Given the description of an element on the screen output the (x, y) to click on. 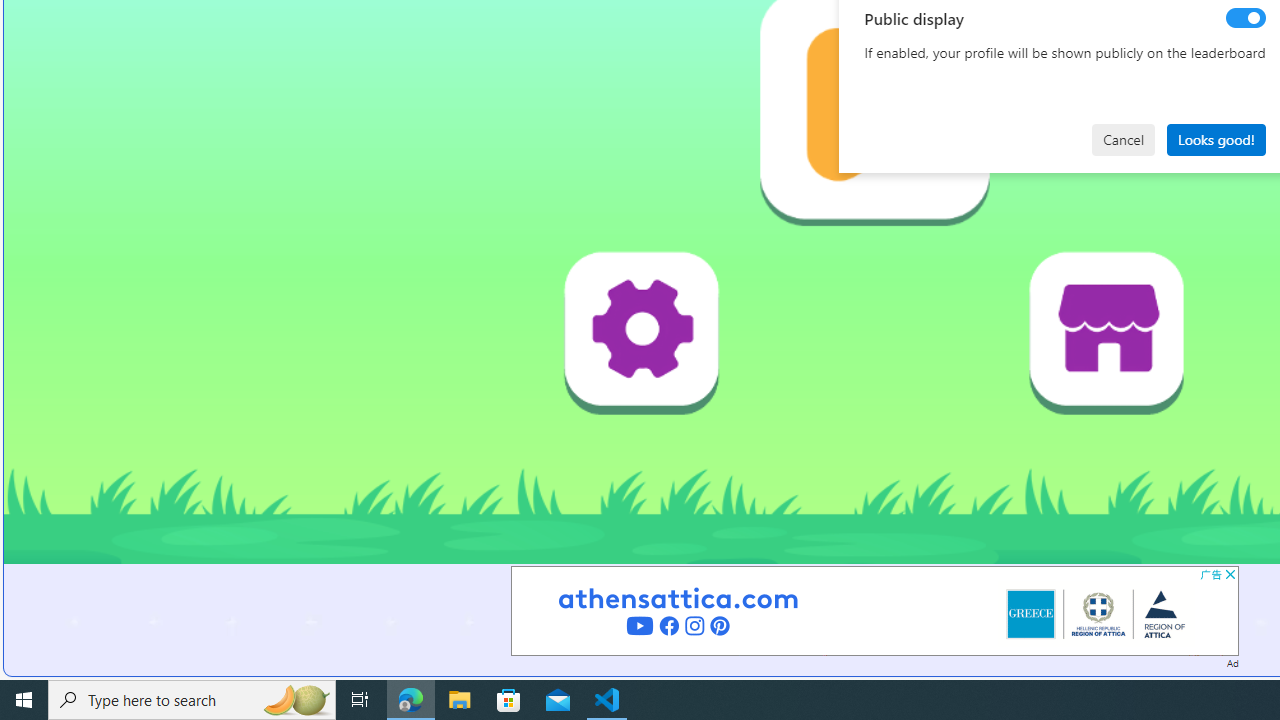
AutomationID: cbb (1229, 574)
Advertisement (874, 610)
Looks good! (1216, 139)
Advertisement (874, 610)
Cancel (1123, 139)
Ad (1232, 661)
